Given the description of an element on the screen output the (x, y) to click on. 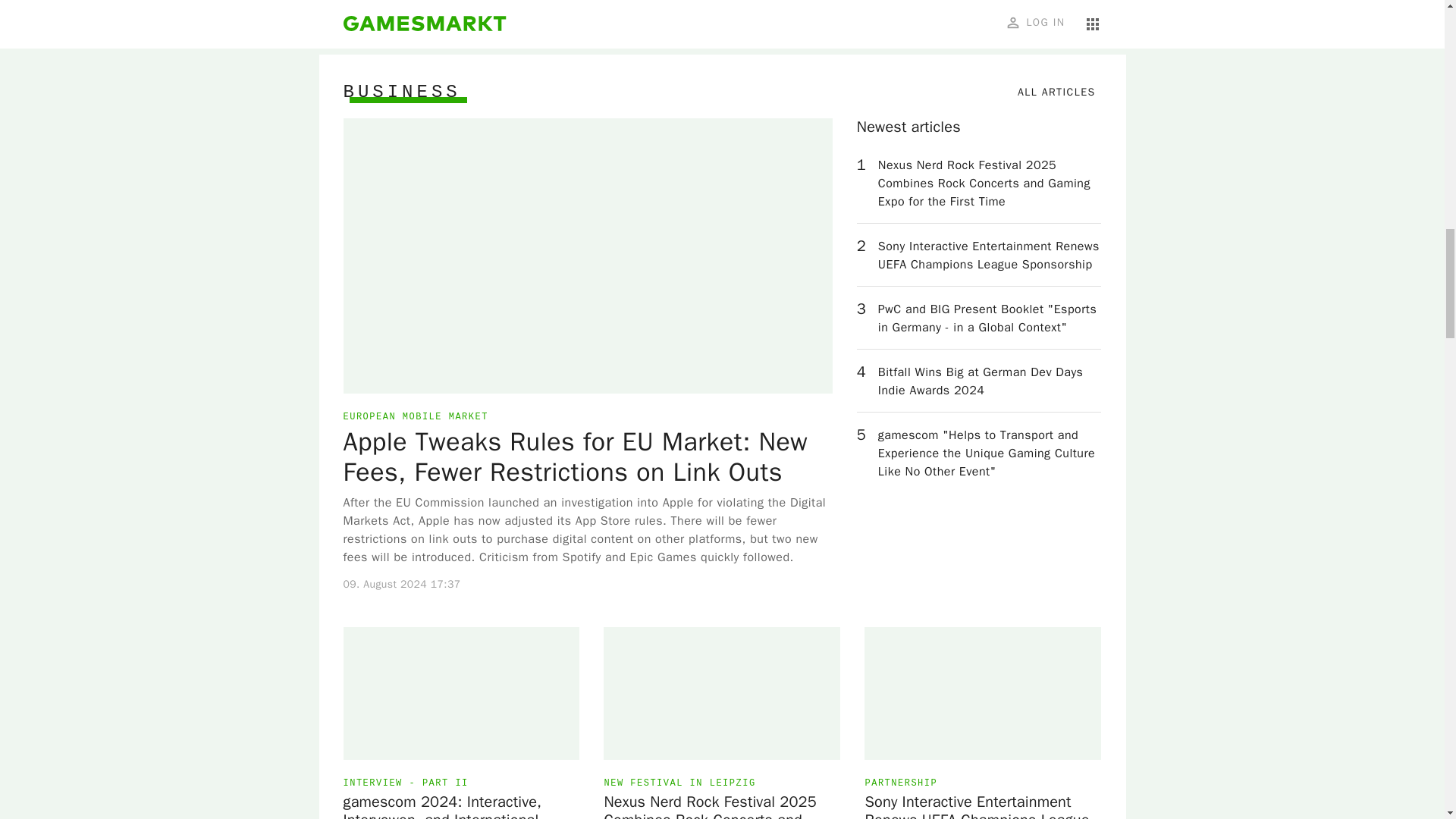
ALL ARTICLES (1055, 92)
Bitfall Wins Big at German Dev Days Indie Awards 2024 (989, 381)
